Given the description of an element on the screen output the (x, y) to click on. 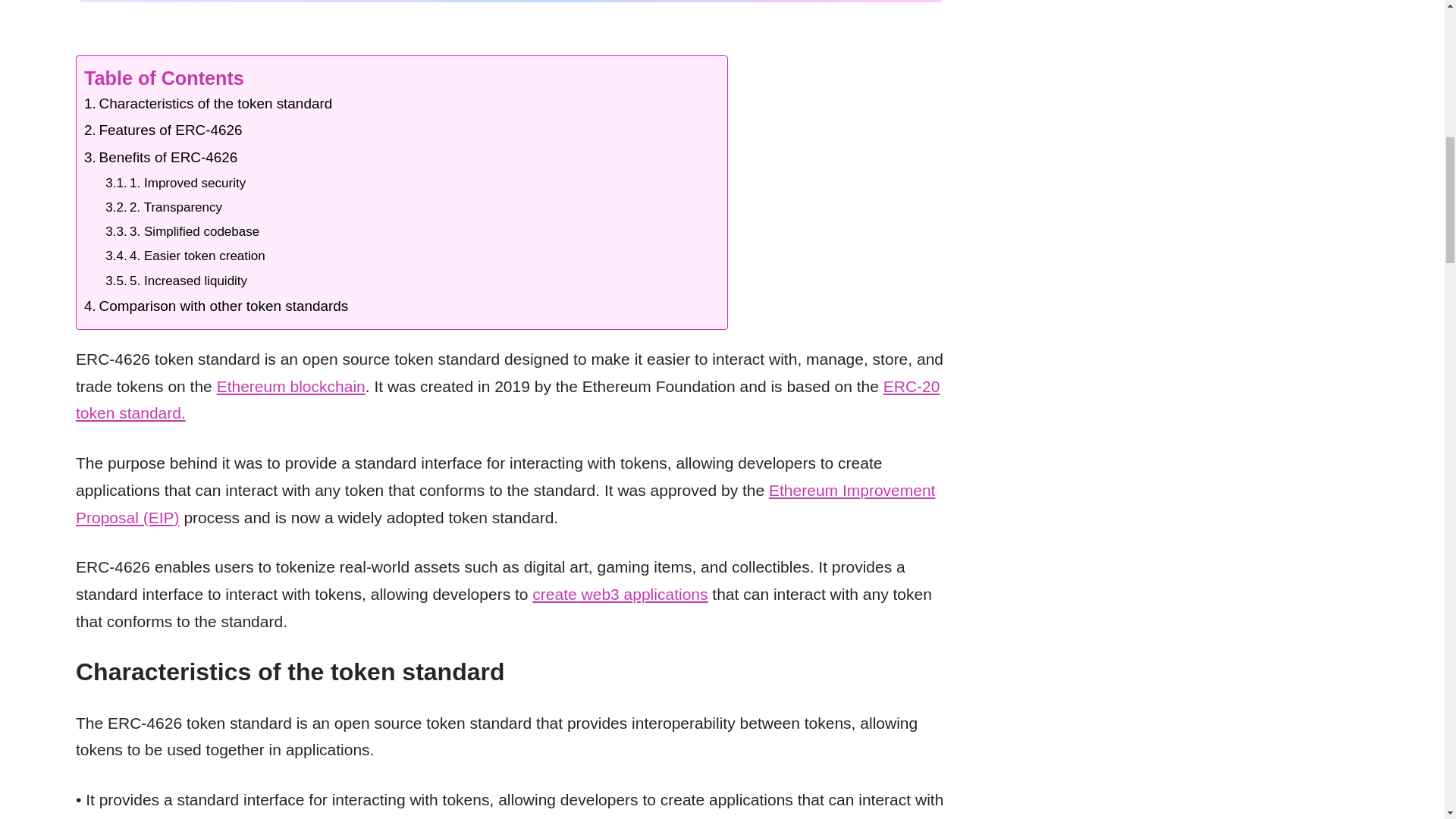
Features of ERC-4626 (163, 131)
5. Increased liquidity (175, 282)
Characteristics of the token standard (207, 105)
Characteristics of the token standard (207, 105)
Comparison with other token standards (215, 307)
Features of ERC-4626 (163, 131)
create web3 applications (619, 593)
4. Easier token creation (184, 257)
4. Easier token creation (184, 257)
3. Simplified codebase (181, 233)
3. Simplified codebase (181, 233)
2. Transparency (163, 209)
Benefits of ERC-4626 (160, 158)
1. Improved security (175, 184)
1. Improved security (175, 184)
